Given the description of an element on the screen output the (x, y) to click on. 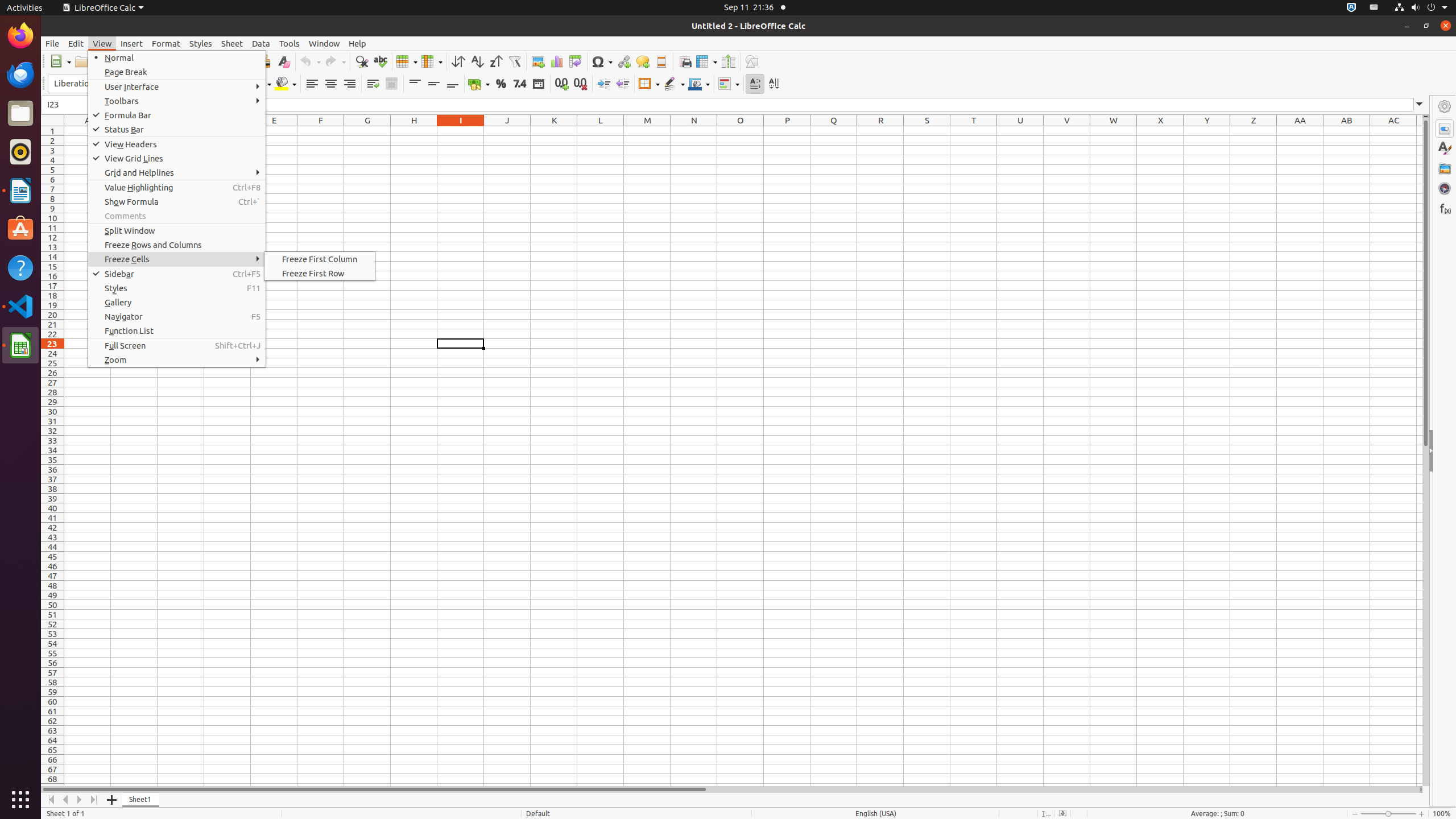
Apply Style Element type: text (41, 73)
T1 Element type: table-cell (973, 130)
Background Color Element type: push-button (285, 83)
Edit Element type: menu (75, 43)
